Given the description of an element on the screen output the (x, y) to click on. 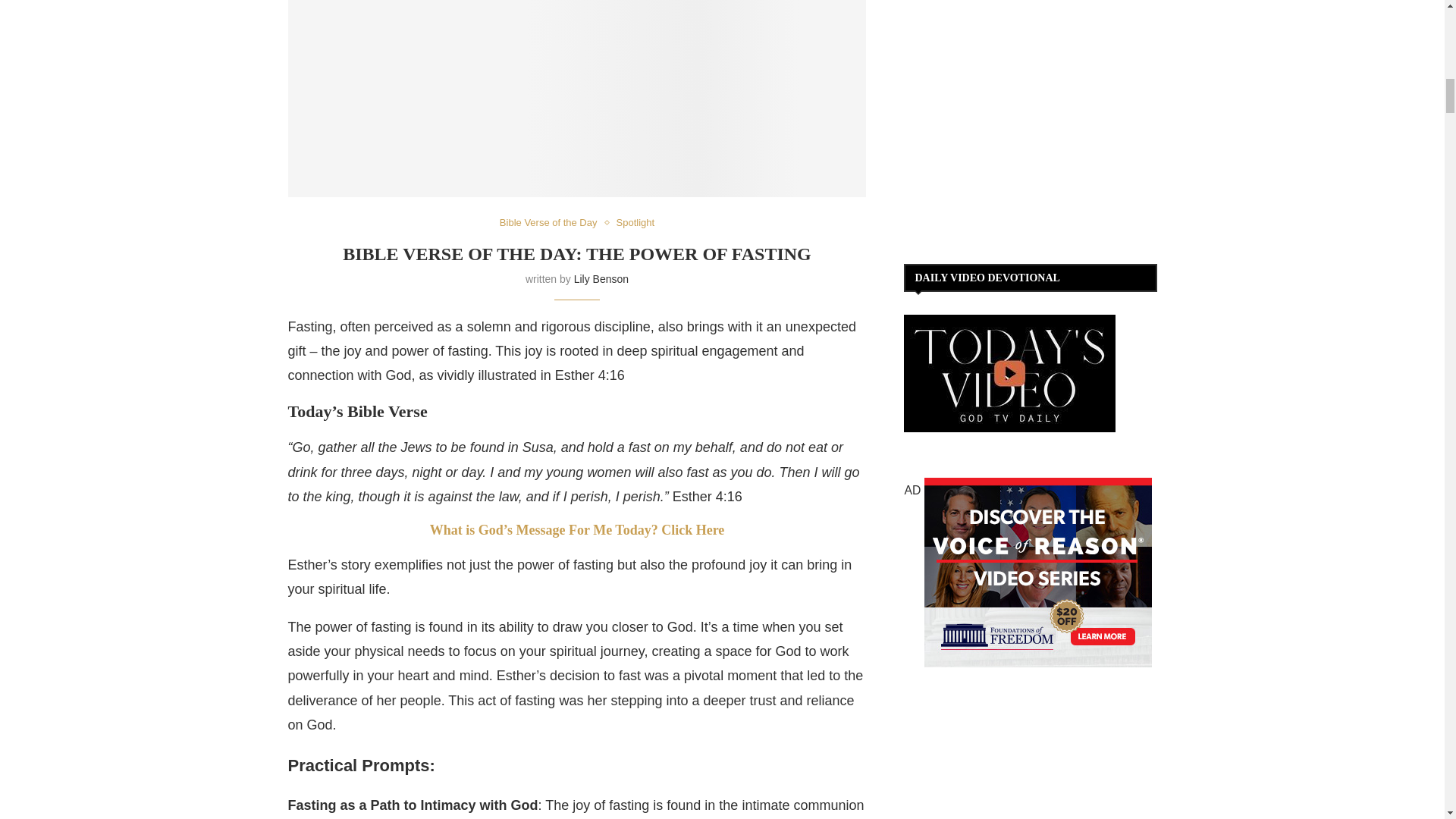
tyler-nix-sh3LSNbyj7k-unsplash (577, 98)
Bible Verse of the Day (552, 223)
